Given the description of an element on the screen output the (x, y) to click on. 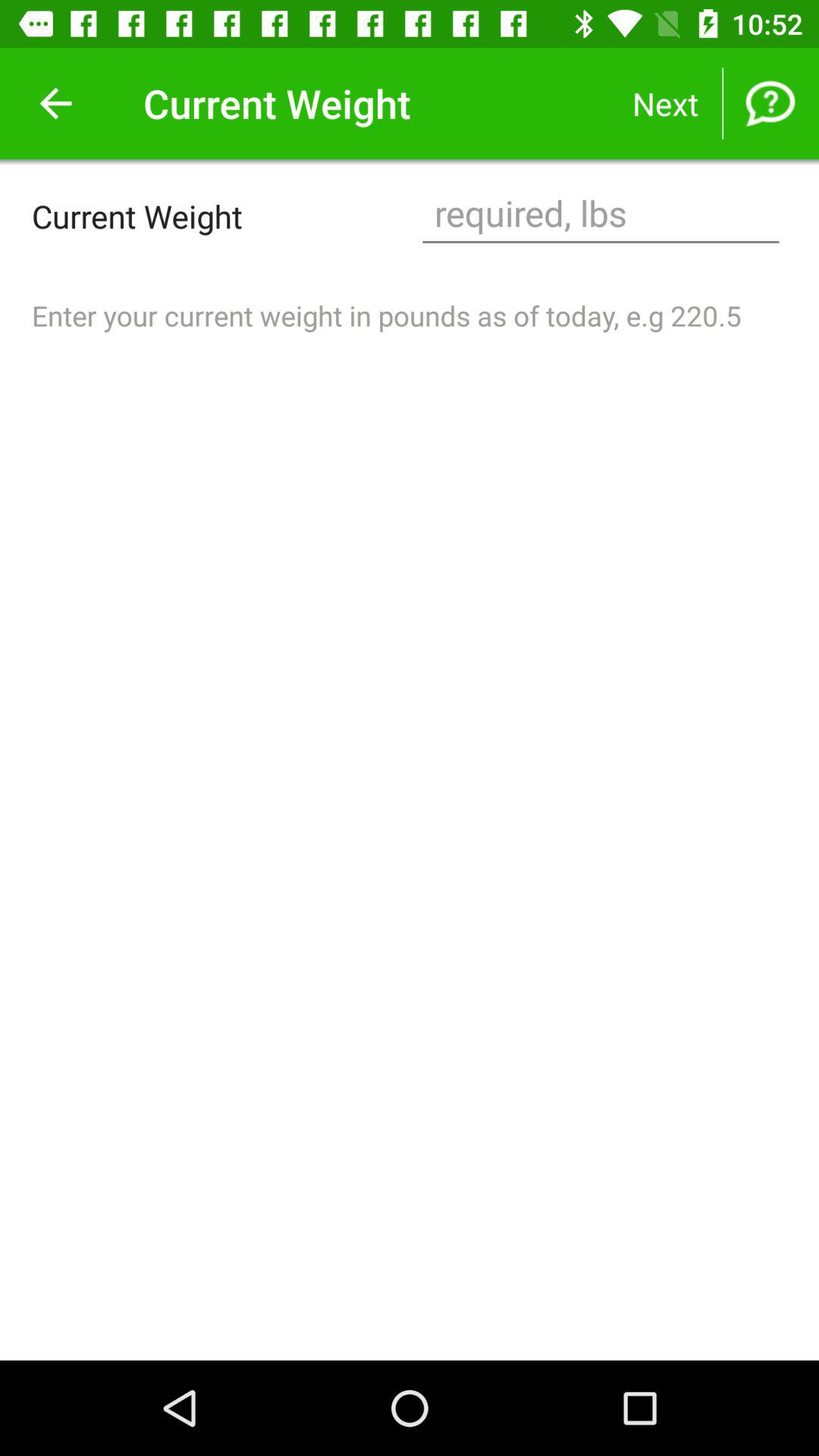
open the icon next to the current weight item (55, 103)
